Given the description of an element on the screen output the (x, y) to click on. 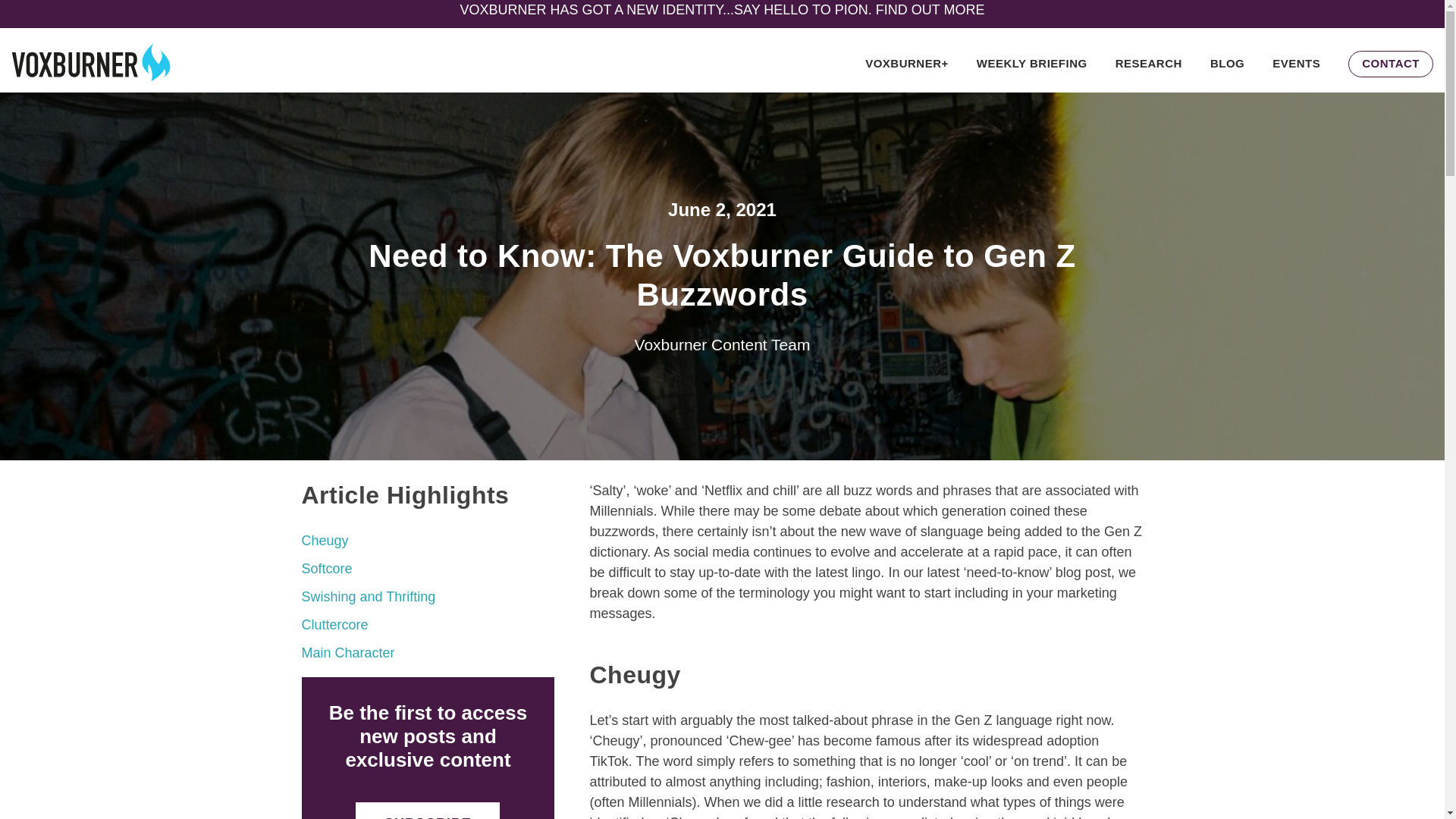
CONTACT (1390, 62)
WEEKLY BRIEFING (1031, 62)
Cluttercore (334, 624)
Swishing and Thrifting (368, 596)
Cheugy (325, 540)
EVENTS (1296, 62)
Main Character (347, 652)
Softcore (326, 568)
SUBSCRIBE (427, 810)
